Given the description of an element on the screen output the (x, y) to click on. 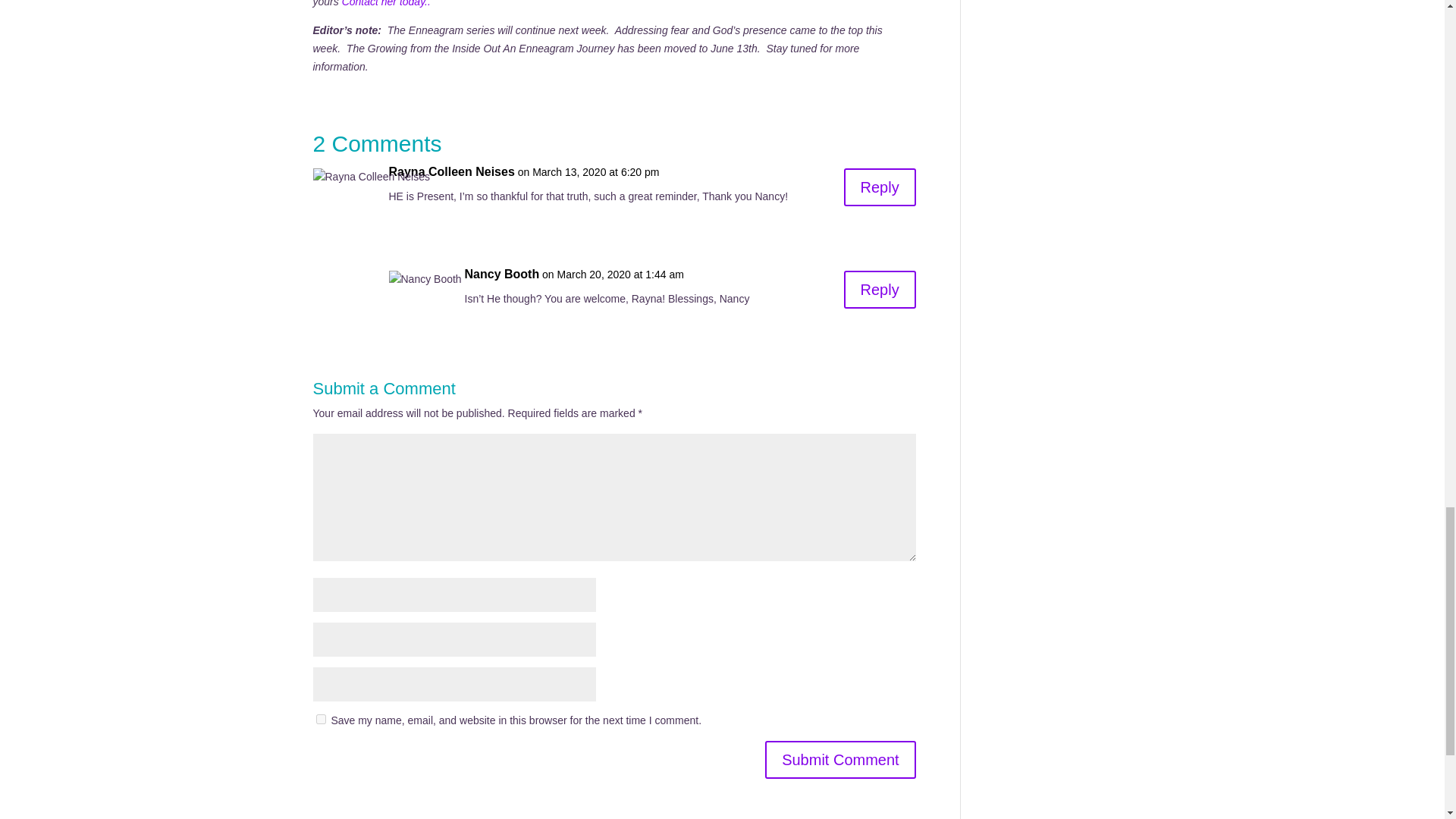
Contact her today.. (386, 3)
Reply (879, 187)
Submit Comment (840, 759)
Submit Comment (840, 759)
Rayna Colleen Neises (450, 171)
Reply (879, 289)
yes (319, 718)
